Given the description of an element on the screen output the (x, y) to click on. 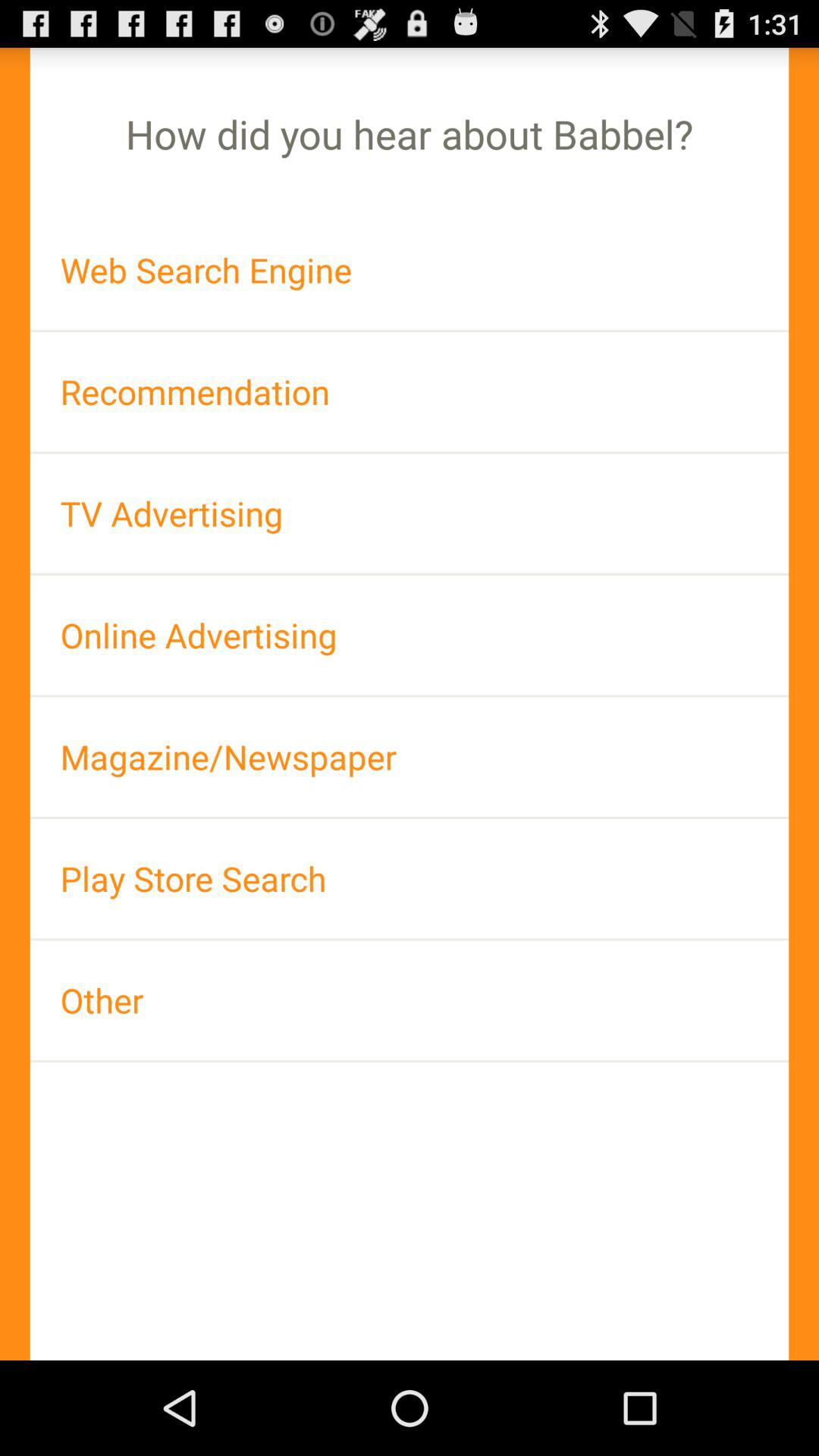
flip until online advertising item (409, 635)
